Given the description of an element on the screen output the (x, y) to click on. 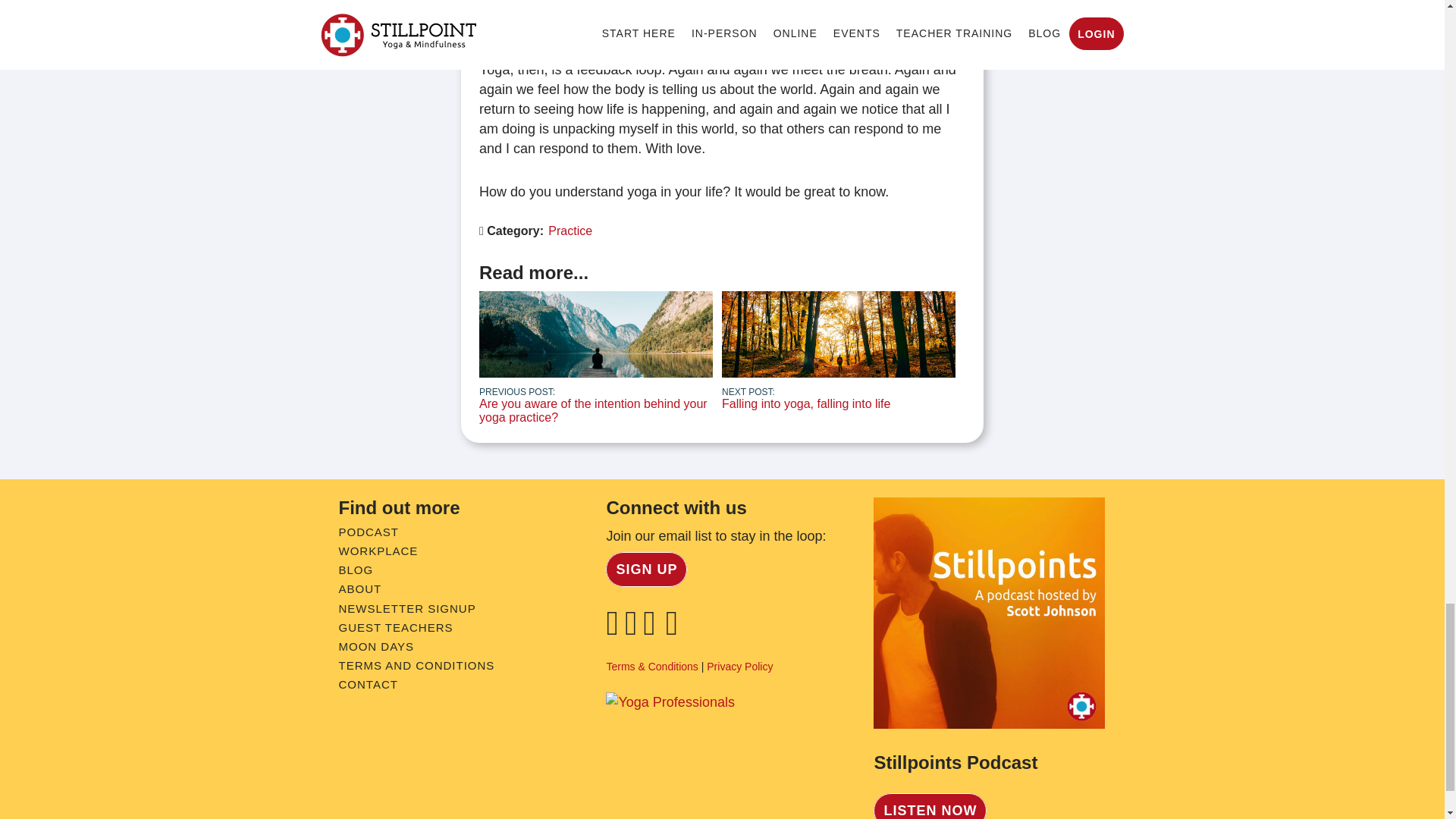
Follow us on Twitter (652, 630)
SIGN UP (646, 569)
TERMS AND CONDITIONS (416, 665)
BLOG (354, 569)
NEWSLETTER SIGNUP (406, 608)
CONTACT (367, 684)
MOON DAYS (375, 645)
Privacy Policy (739, 666)
Follow us on Instagram (633, 630)
GUEST TEACHERS (394, 626)
WORKPLACE (377, 550)
Practice (570, 230)
Subscribe on Youtube (674, 630)
Follow us on Facebook (838, 350)
